Given the description of an element on the screen output the (x, y) to click on. 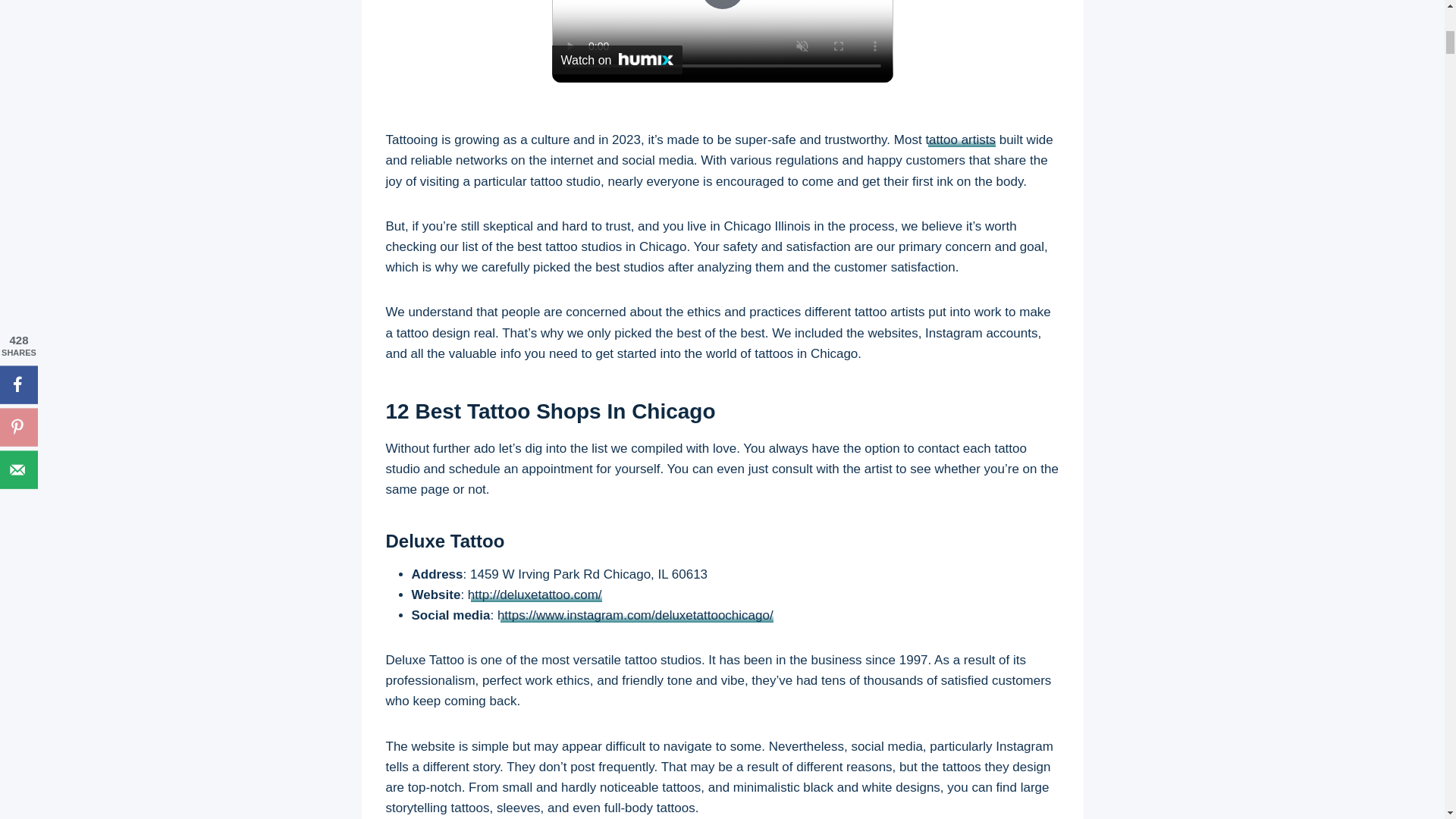
Play Video (721, 4)
Play Video (721, 4)
Watch on (616, 59)
tattoo artists (959, 139)
